Given the description of an element on the screen output the (x, y) to click on. 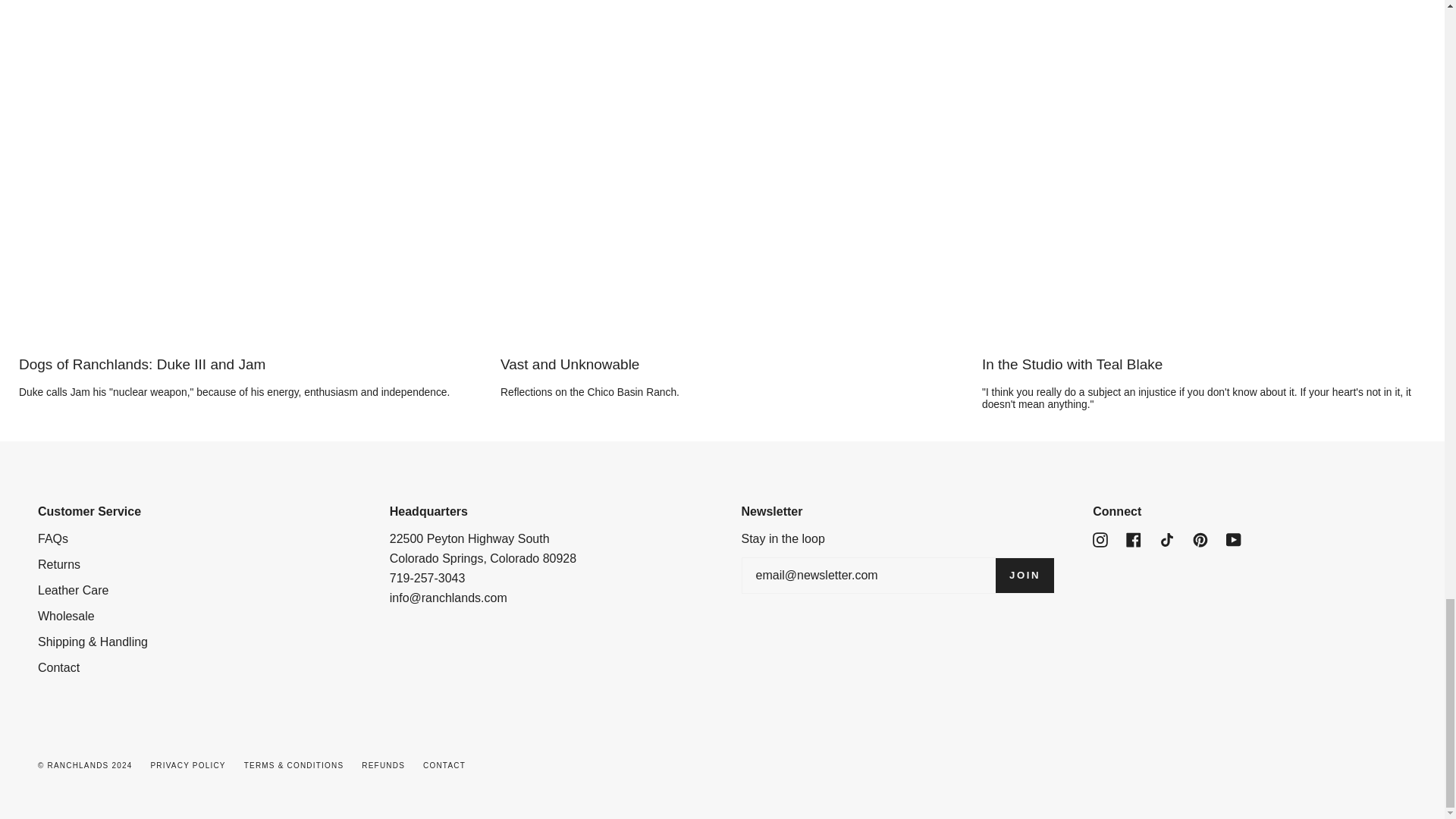
Ranchlands on Pinterest (1200, 538)
Vast and Unknowable (721, 364)
In the Studio with Teal Blake (1203, 364)
Ranchlands on YouTube (1233, 538)
Dogs of Ranchlands: Duke III and Jam (240, 364)
Ranchlands on Facebook (1133, 538)
Ranchlands on TikTok (1166, 538)
Ranchlands on Instagram (1100, 538)
